Given the description of an element on the screen output the (x, y) to click on. 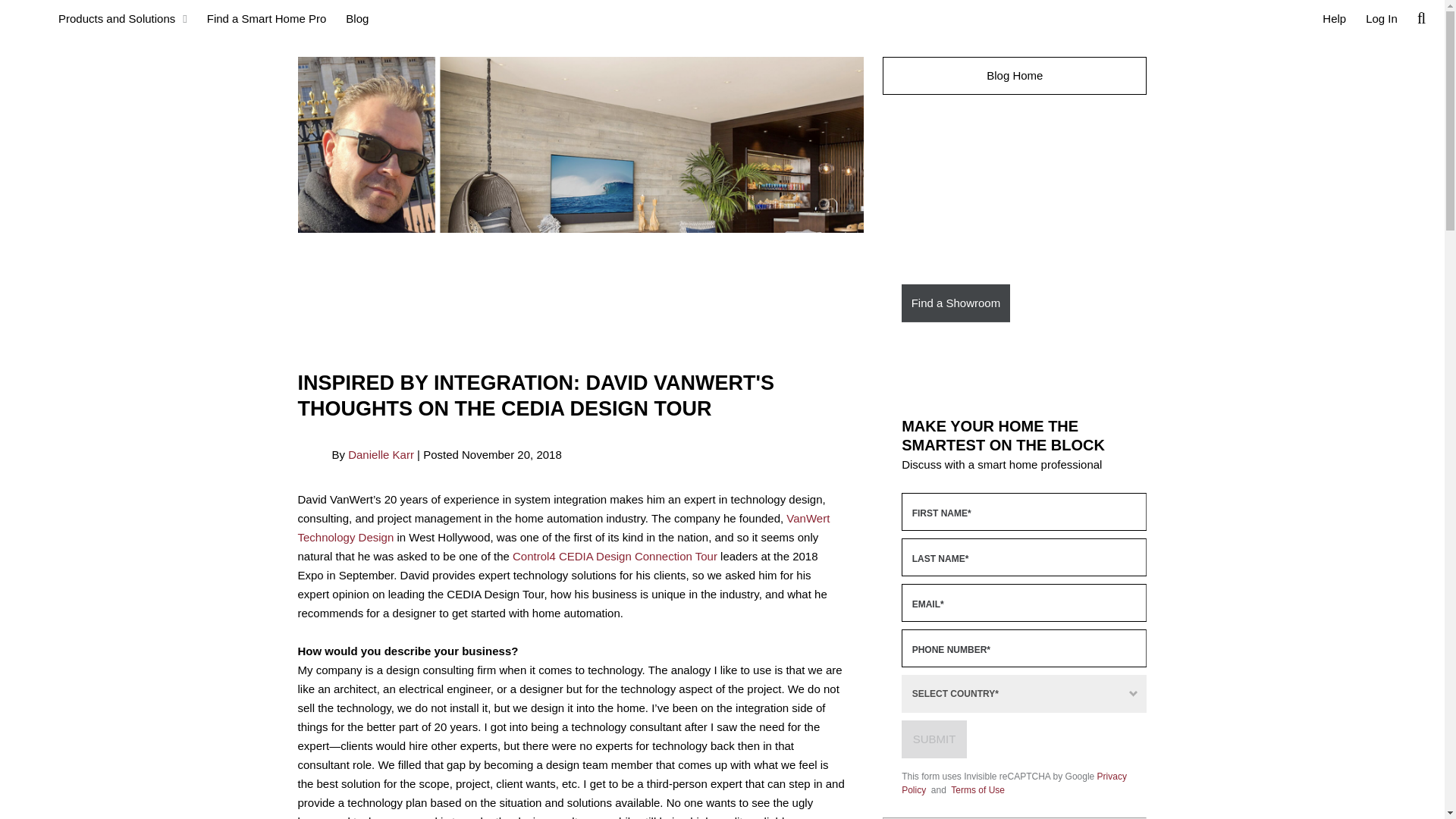
Find a Smart Home Pro (266, 18)
